Given the description of an element on the screen output the (x, y) to click on. 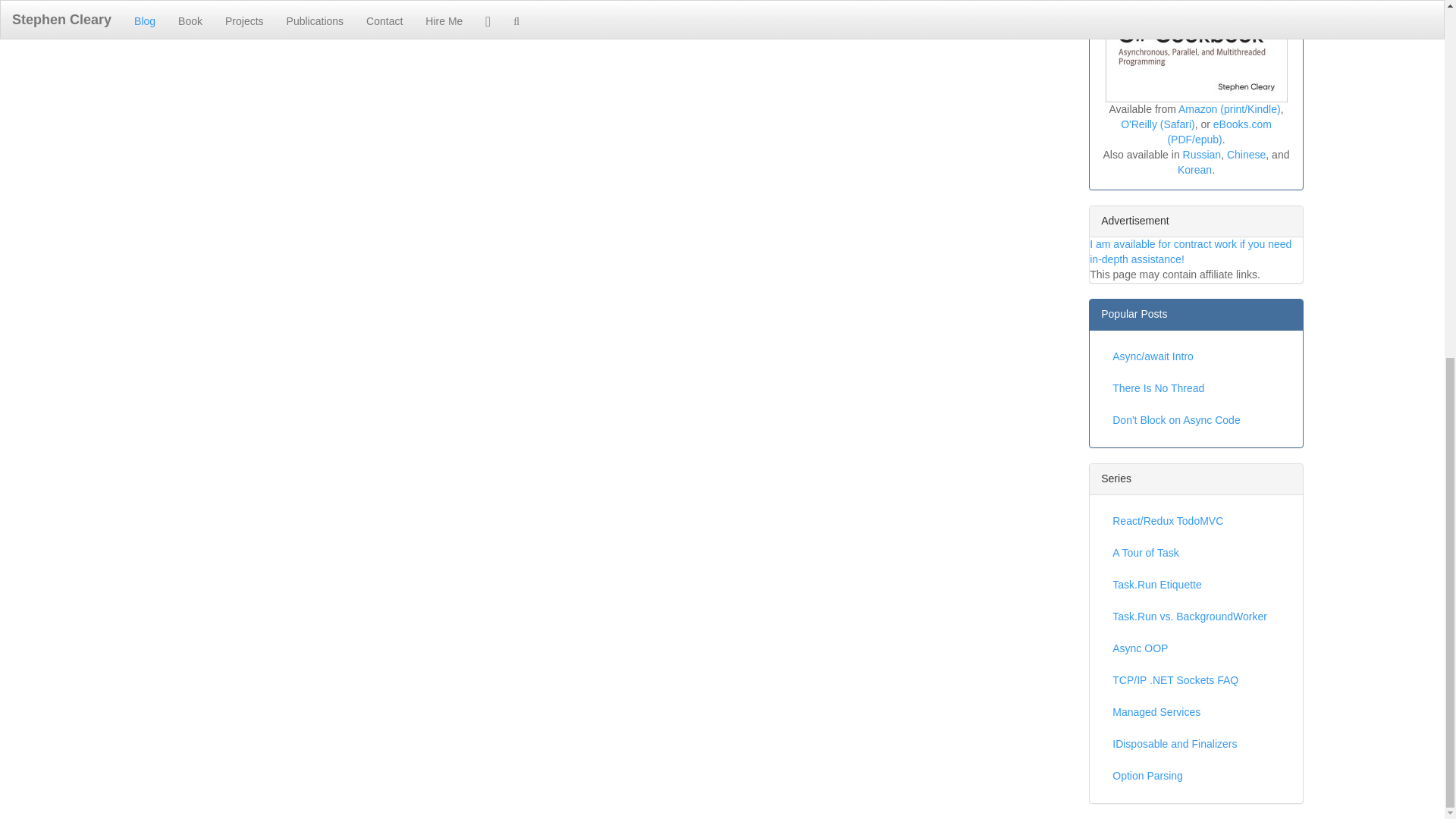
Managed Services (1195, 712)
A Tour of Task (1195, 553)
Korean (1194, 169)
Don't Block on Async Code (1195, 420)
Chinese (1246, 154)
IDisposable and Finalizers (1195, 744)
Async OOP (1195, 648)
Option Parsing (1195, 776)
Task.Run Etiquette (1195, 585)
There Is No Thread (1195, 388)
Task.Run vs. BackgroundWorker (1195, 616)
Russian (1201, 154)
